Given the description of an element on the screen output the (x, y) to click on. 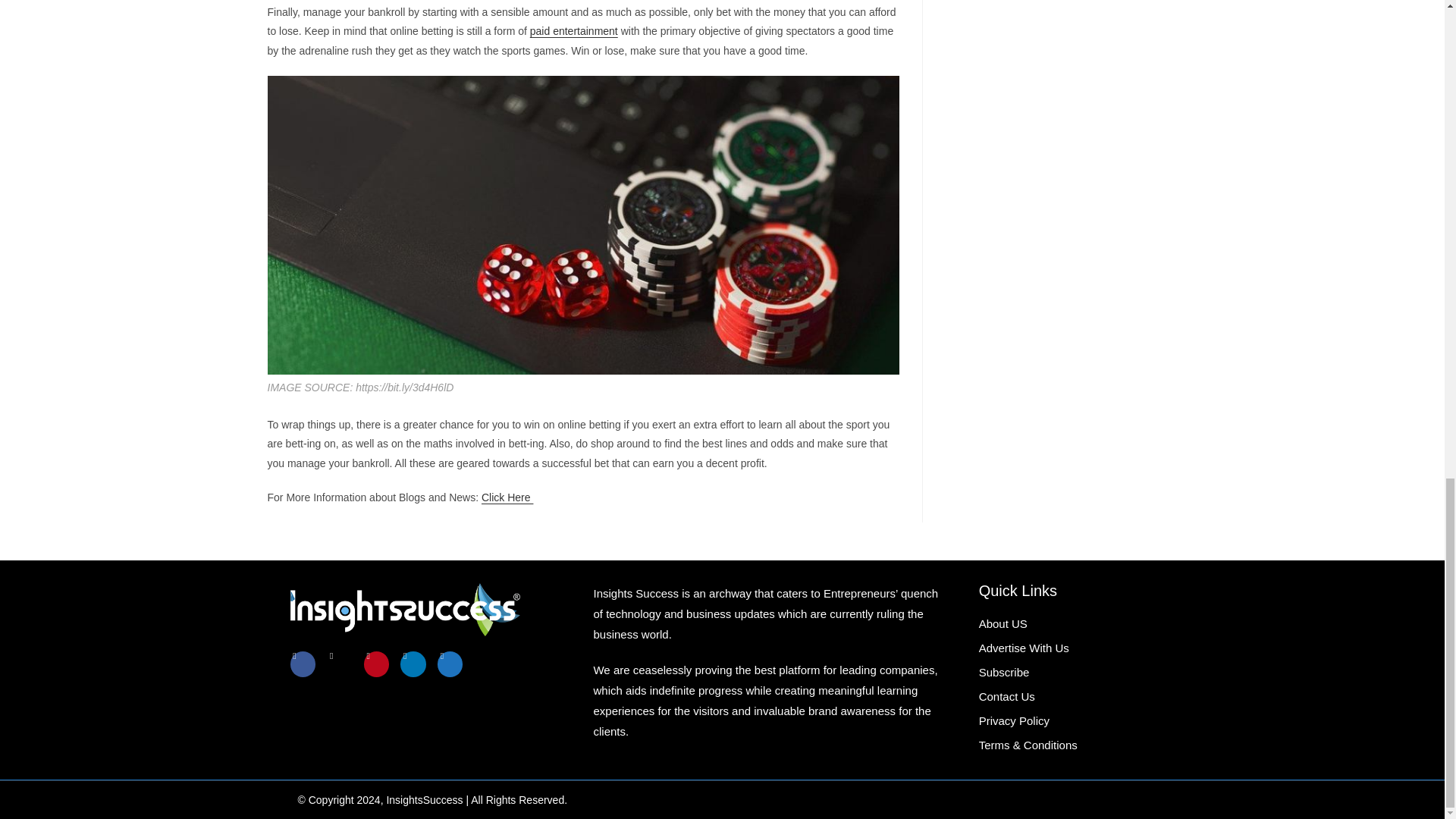
Click Here  (506, 497)
paid entertainment (573, 30)
